Given the description of an element on the screen output the (x, y) to click on. 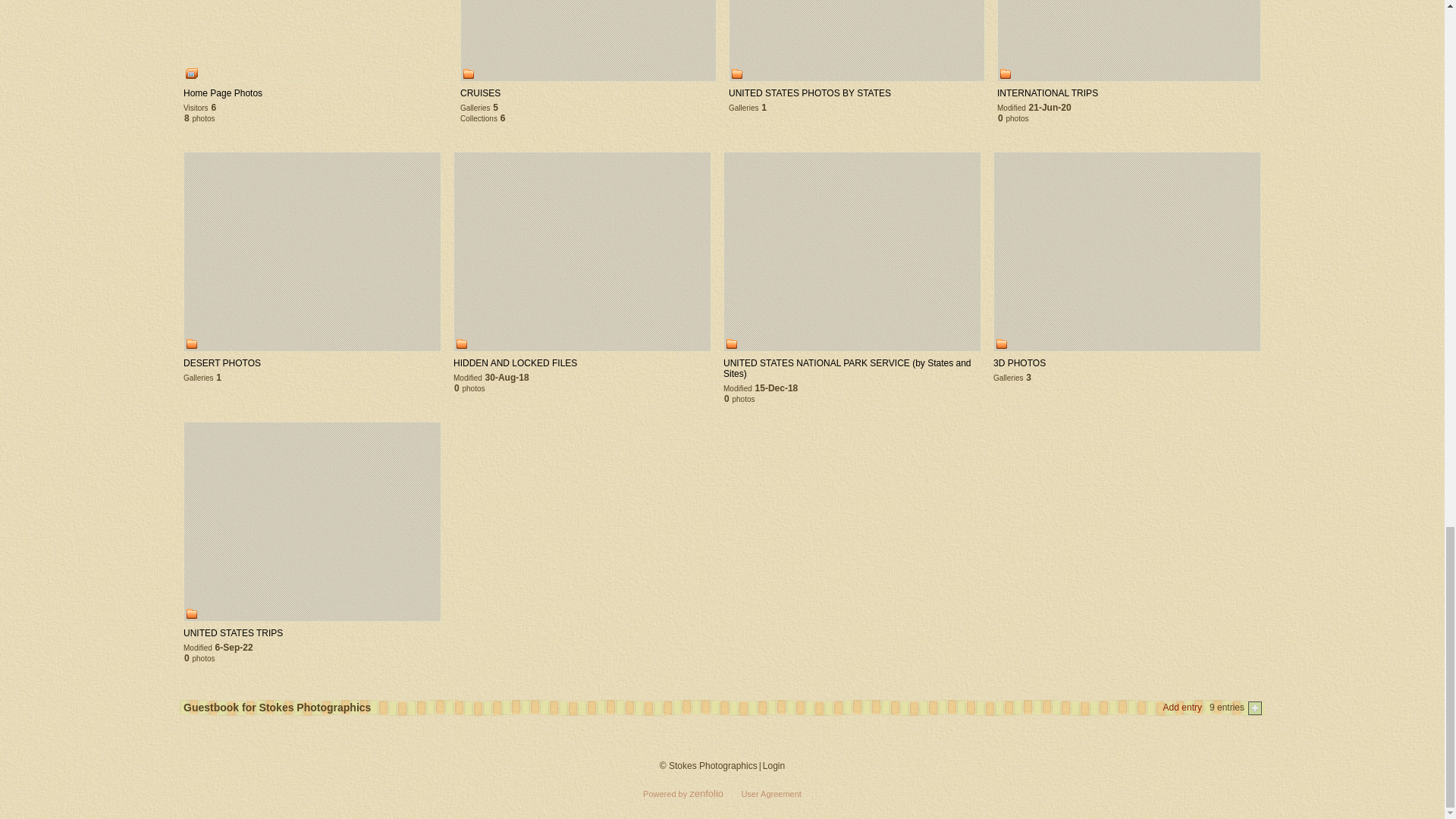
Add entry (1186, 706)
Guestbook for Stokes Photographics (277, 707)
